Given the description of an element on the screen output the (x, y) to click on. 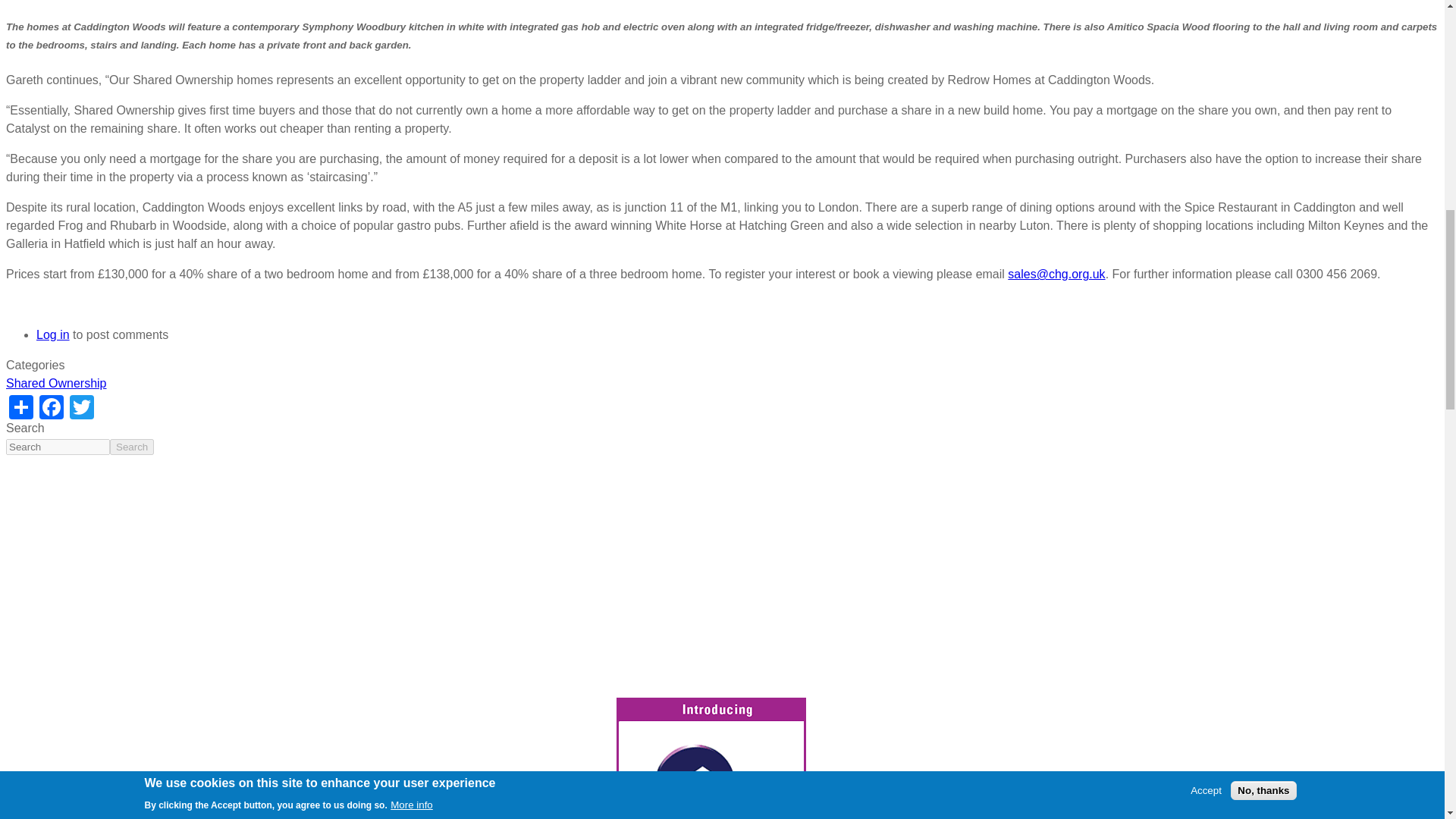
Direction Law (710, 758)
Twitter (81, 406)
Shared Ownership (55, 382)
Log in (52, 334)
Facebook (51, 406)
Search (132, 446)
Share (20, 406)
